Given the description of an element on the screen output the (x, y) to click on. 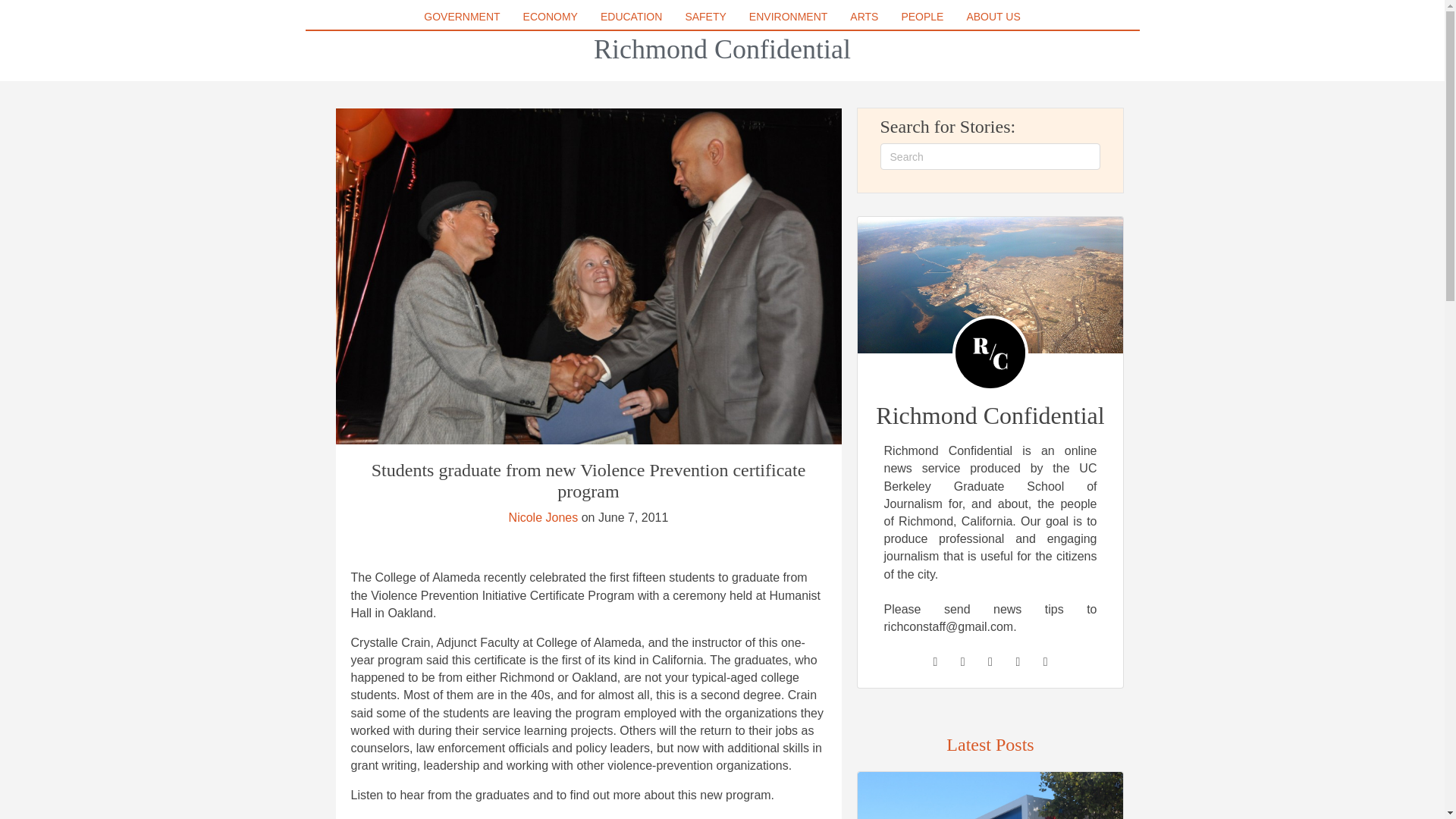
Type and press Enter to search. (990, 156)
ABOUT US (992, 16)
Richmond Confidential (722, 49)
Nicole Jones (543, 517)
ENVIRONMENT (787, 16)
Richmond Confidential (722, 49)
GOVERNMENT (461, 16)
Posts by Nicole Jones (543, 517)
EDUCATION (630, 16)
ECONOMY (550, 16)
